Given the description of an element on the screen output the (x, y) to click on. 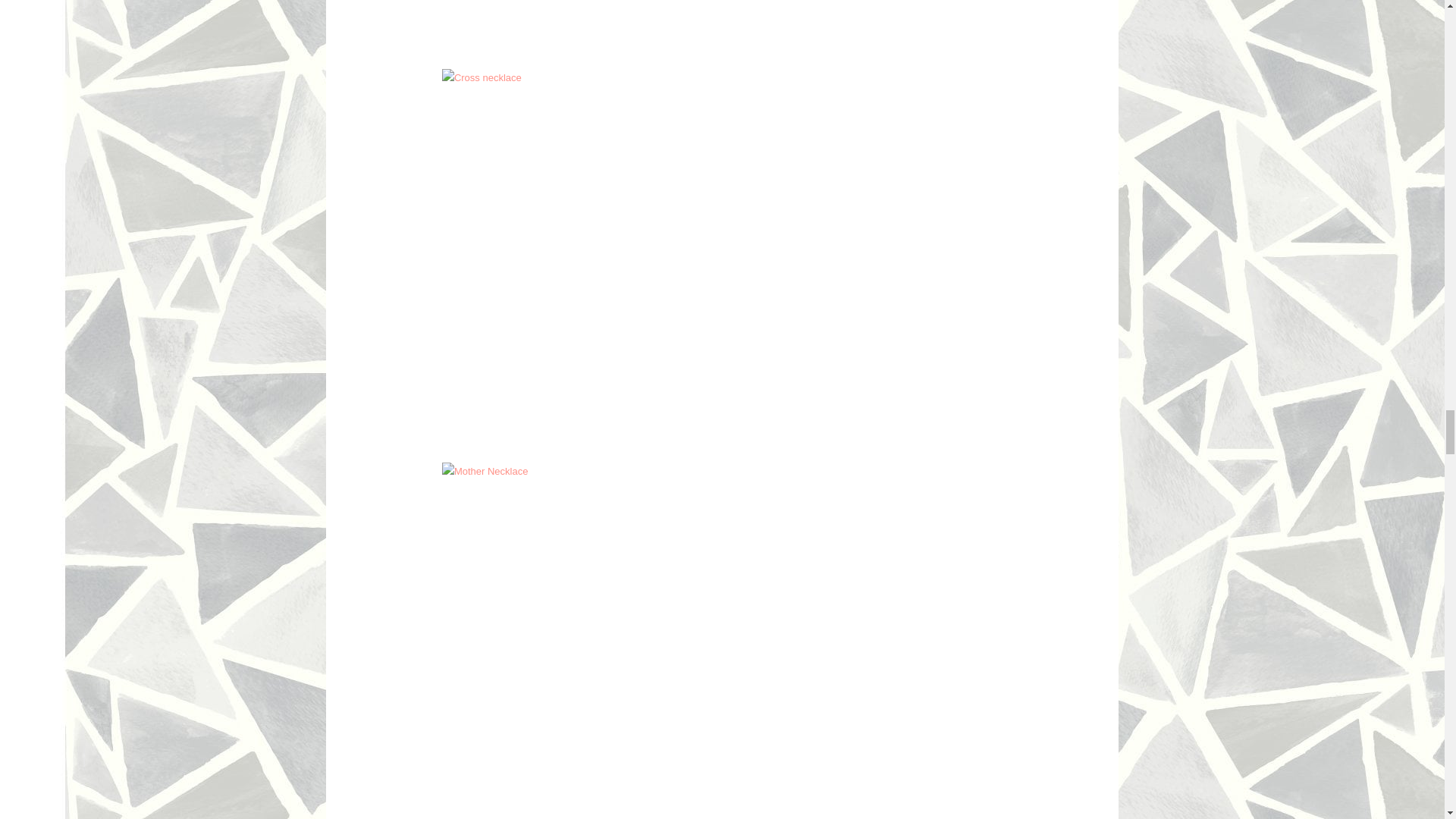
Charm bracelet with names (593, 27)
